Given the description of an element on the screen output the (x, y) to click on. 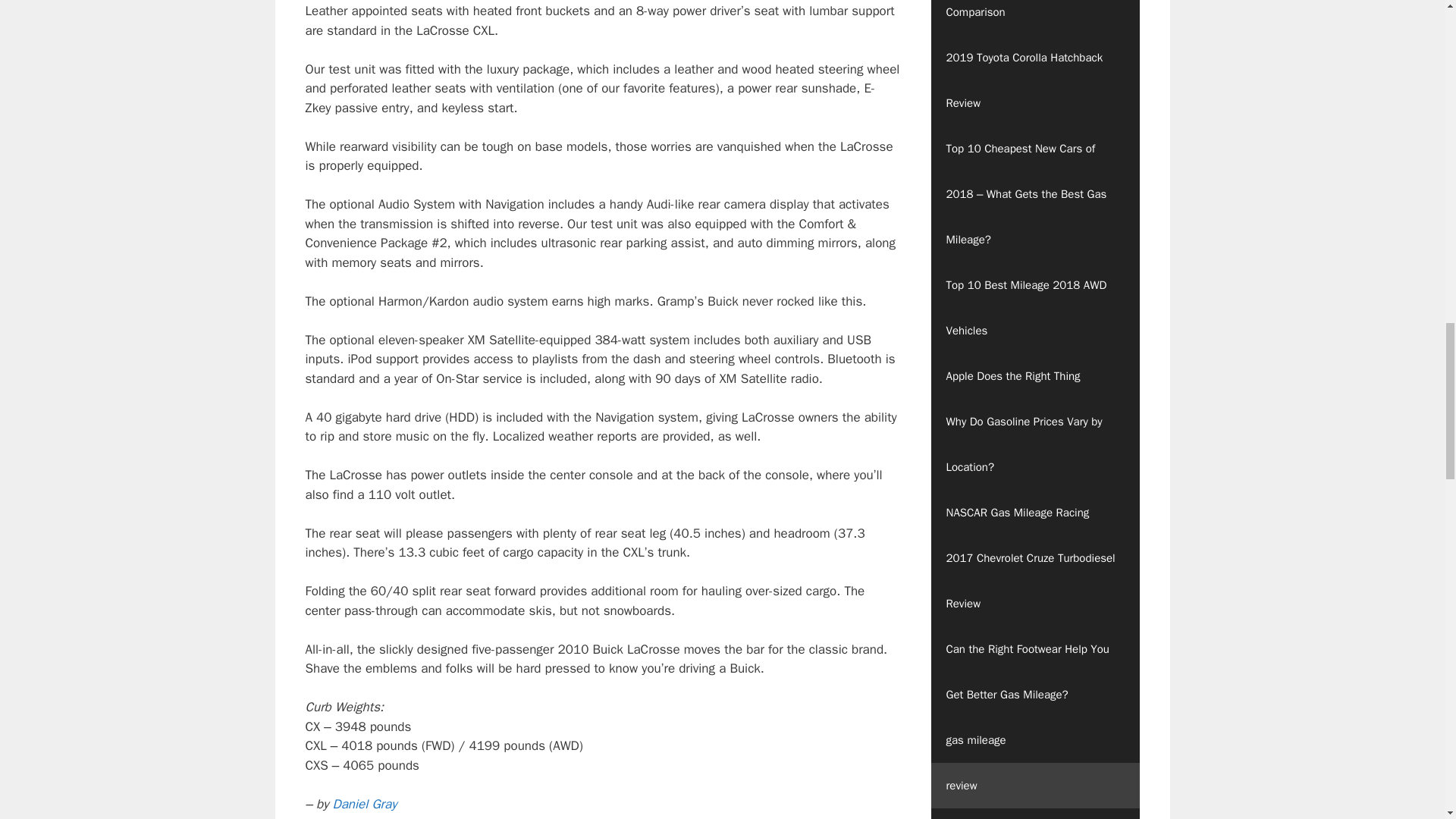
Daniel Gray (363, 804)
2019 Toyota Corolla Hatchback Review (1035, 80)
Car Subscription Service Comparison (1035, 17)
